Given the description of an element on the screen output the (x, y) to click on. 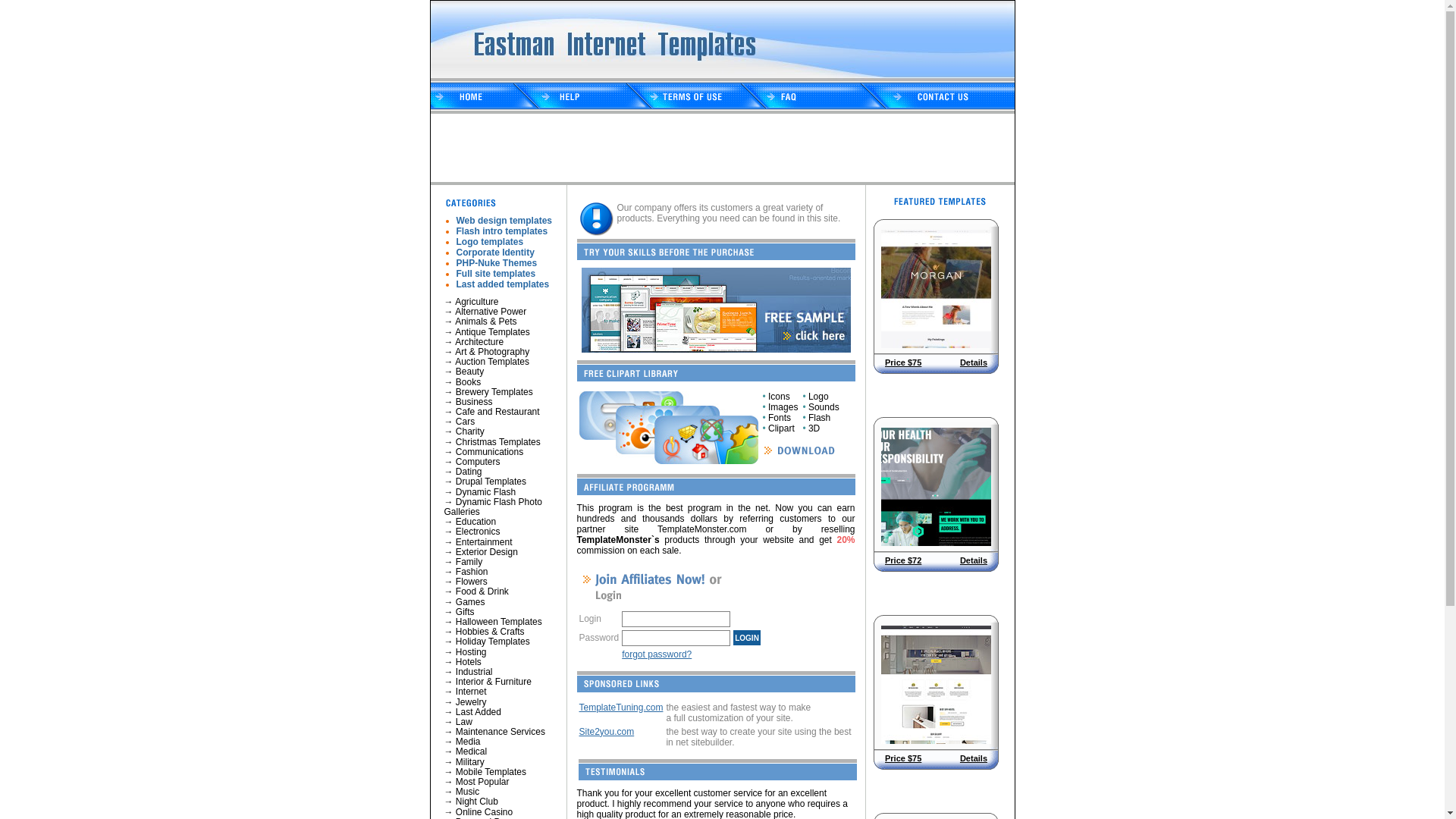
Antique Templates Element type: text (492, 331)
Holiday Templates Element type: text (492, 641)
Flowers Element type: text (471, 581)
PHP-Nuke Themes Element type: text (496, 262)
Media Element type: text (467, 741)
Games Element type: text (470, 601)
Logo templates Element type: text (490, 241)
Entertainment Element type: text (483, 541)
Night Club Element type: text (476, 801)
Dynamic Flash Photo Galleries Element type: text (493, 506)
Web design templates Element type: text (504, 220)
LOGIN Element type: text (746, 637)
Gifts Element type: text (464, 611)
Advertisement Element type: hover (706, 147)
Family Element type: text (468, 561)
Dynamic Flash Element type: text (485, 491)
Dating Element type: text (468, 471)
Art & Photography Element type: text (492, 351)
Architecture Element type: text (479, 341)
Flash intro templates Element type: text (502, 230)
Last added templates Element type: text (502, 284)
Site2you.com Element type: text (606, 731)
Last Added Element type: text (478, 711)
Corporate Identity Element type: text (495, 252)
Cars Element type: text (464, 421)
Beauty Element type: text (469, 371)
Halloween Templates Element type: text (498, 621)
Business Element type: text (473, 401)
Industrial Element type: text (473, 671)
Communications Element type: text (489, 451)
Fashion Element type: text (471, 571)
Law Element type: text (463, 721)
Food & Drink Element type: text (481, 591)
Interior & Furniture Element type: text (493, 681)
Jewelry Element type: text (470, 701)
Full site templates Element type: text (496, 273)
Mobile Templates Element type: text (490, 771)
Cafe and Restaurant Element type: text (497, 411)
TemplateTuning.com Element type: text (621, 707)
Agriculture Element type: text (476, 301)
Exterior Design Element type: text (486, 551)
Computers Element type: text (477, 461)
Electronics Element type: text (477, 531)
Brewery Templates Element type: text (494, 391)
forgot password? Element type: text (656, 654)
Alternative Power Element type: text (490, 311)
Most Popular Element type: text (482, 781)
Hosting Element type: text (470, 651)
Education Element type: text (475, 521)
Military Element type: text (469, 761)
Christmas Templates Element type: text (497, 441)
Hotels Element type: text (468, 661)
Animals & Pets Element type: text (485, 321)
Medical Element type: text (470, 751)
Books Element type: text (467, 381)
Hobbies & Crafts Element type: text (489, 631)
Internet Element type: text (470, 691)
Online Casino Element type: text (483, 811)
Auction Templates Element type: text (492, 361)
Drupal Templates Element type: text (490, 481)
Charity Element type: text (469, 431)
Maintenance Services Element type: text (500, 731)
Music Element type: text (467, 791)
